Given the description of an element on the screen output the (x, y) to click on. 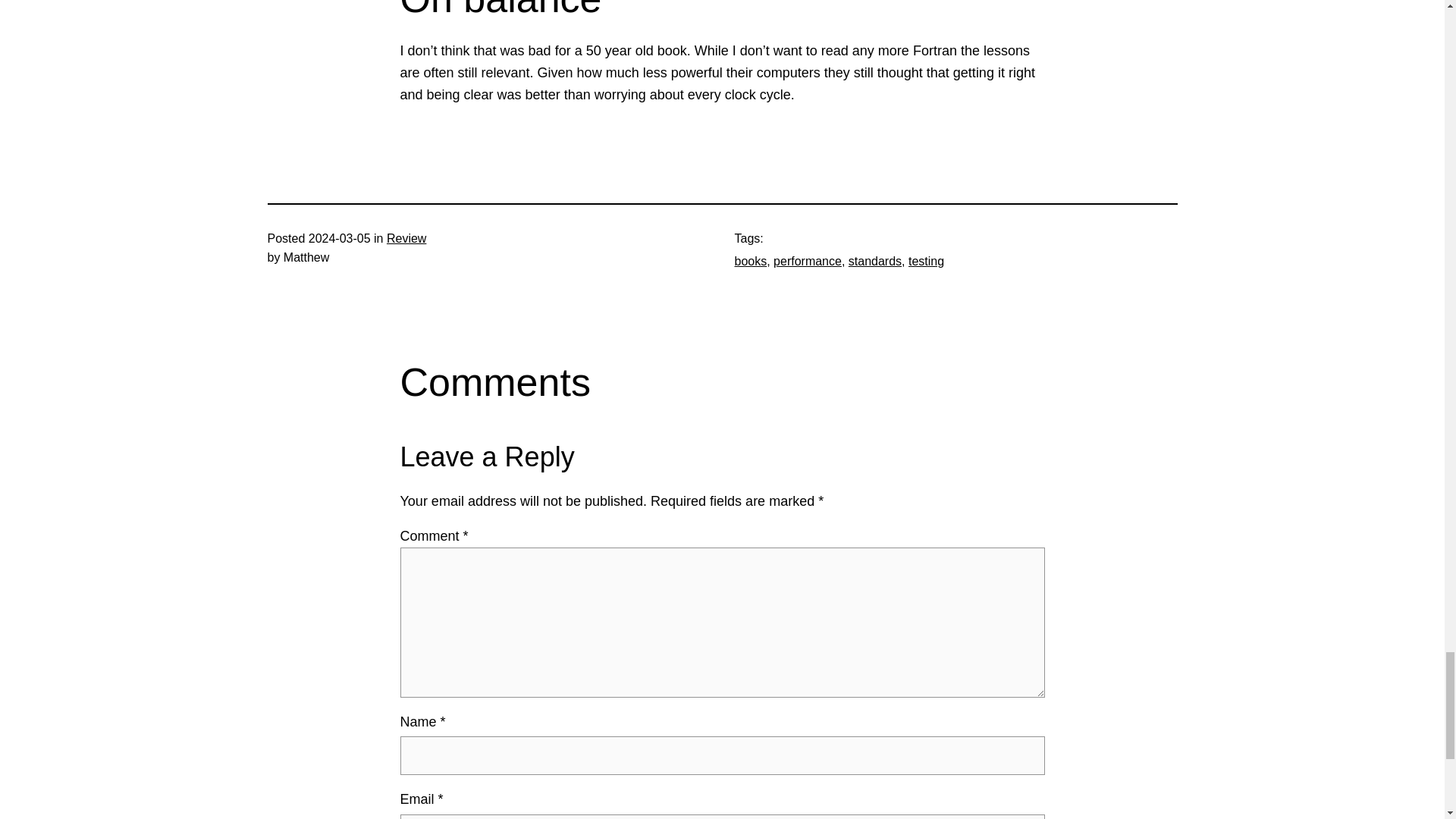
performance (807, 260)
standards (874, 260)
books (750, 260)
testing (925, 260)
Review (406, 237)
